Given the description of an element on the screen output the (x, y) to click on. 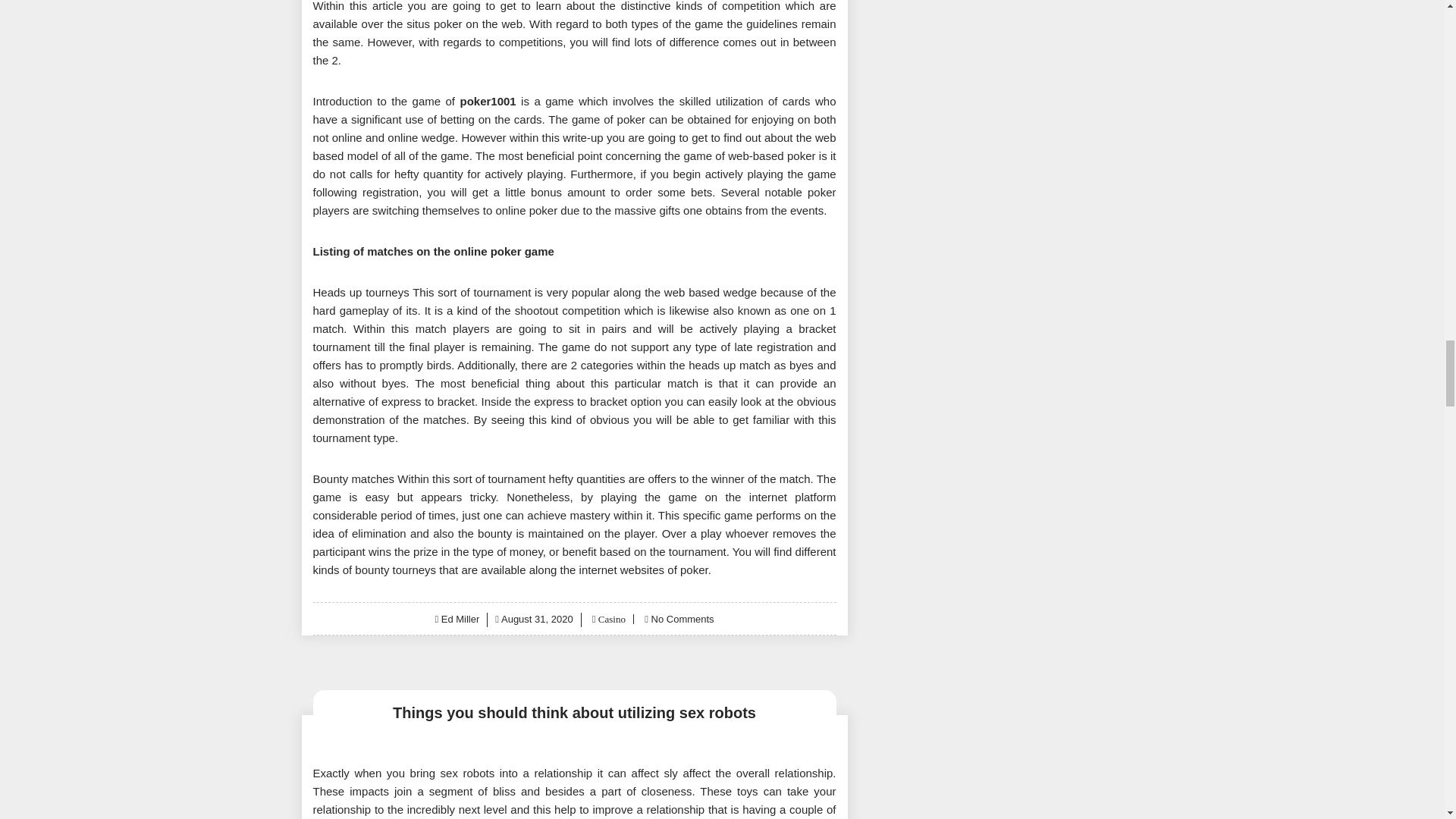
No Comments (682, 618)
Things you should think about utilizing sex robots (574, 712)
Ed Miller (460, 618)
poker1001 (487, 101)
Casino (610, 618)
August 31, 2020 (536, 618)
